Given the description of an element on the screen output the (x, y) to click on. 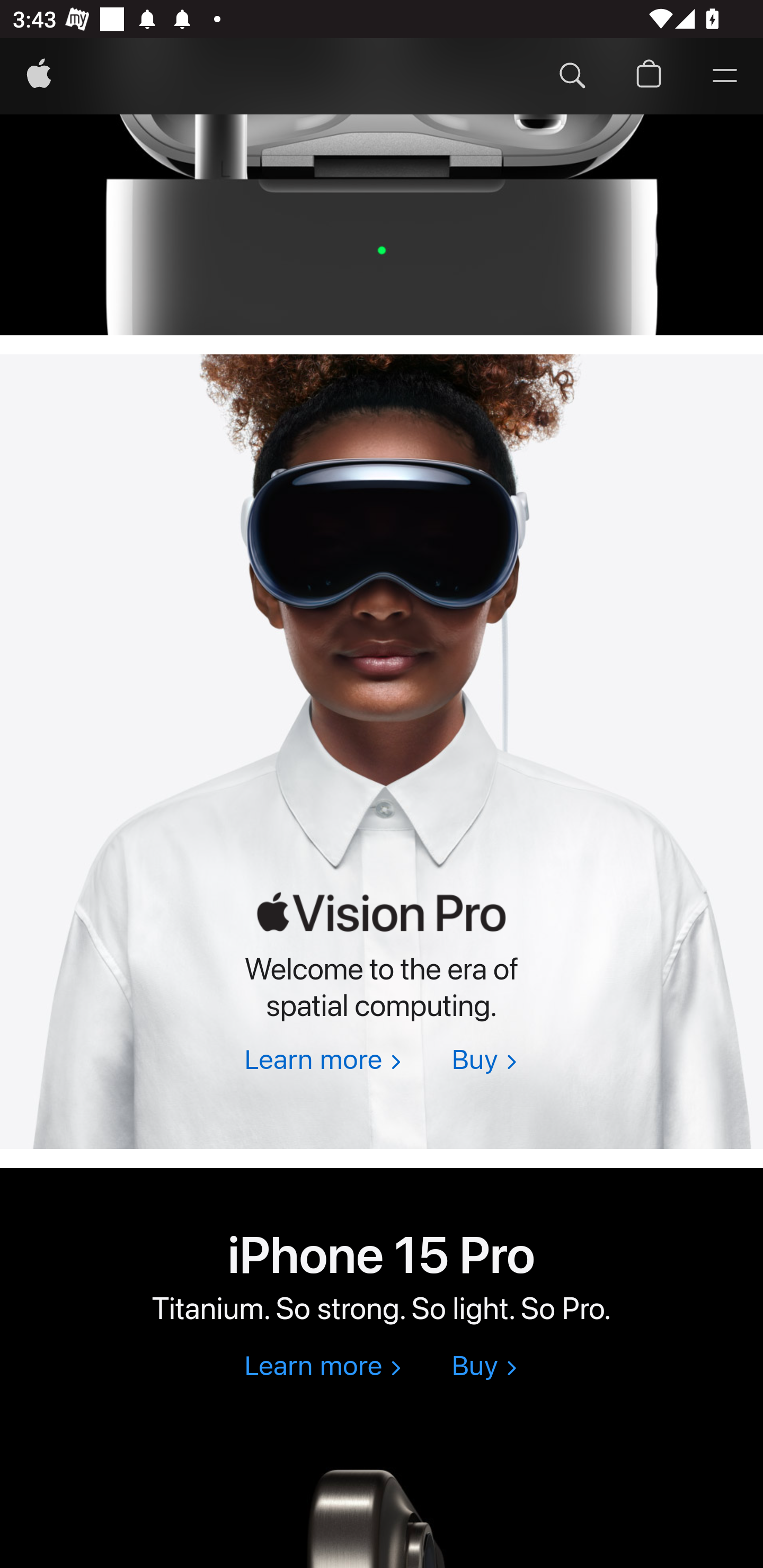
Apple (38, 75)
Search apple.com (572, 75)
Shopping Bag (648, 75)
Menu (724, 75)
Learn more about Apple Vision Pro Learn more  (322, 1060)
Buy Apple Vision Pro Buy  (484, 1060)
Learn more about iPhone 15 Pro Learn more  (322, 1367)
Buy iPhone 15 Pro Buy  (484, 1367)
